Given the description of an element on the screen output the (x, y) to click on. 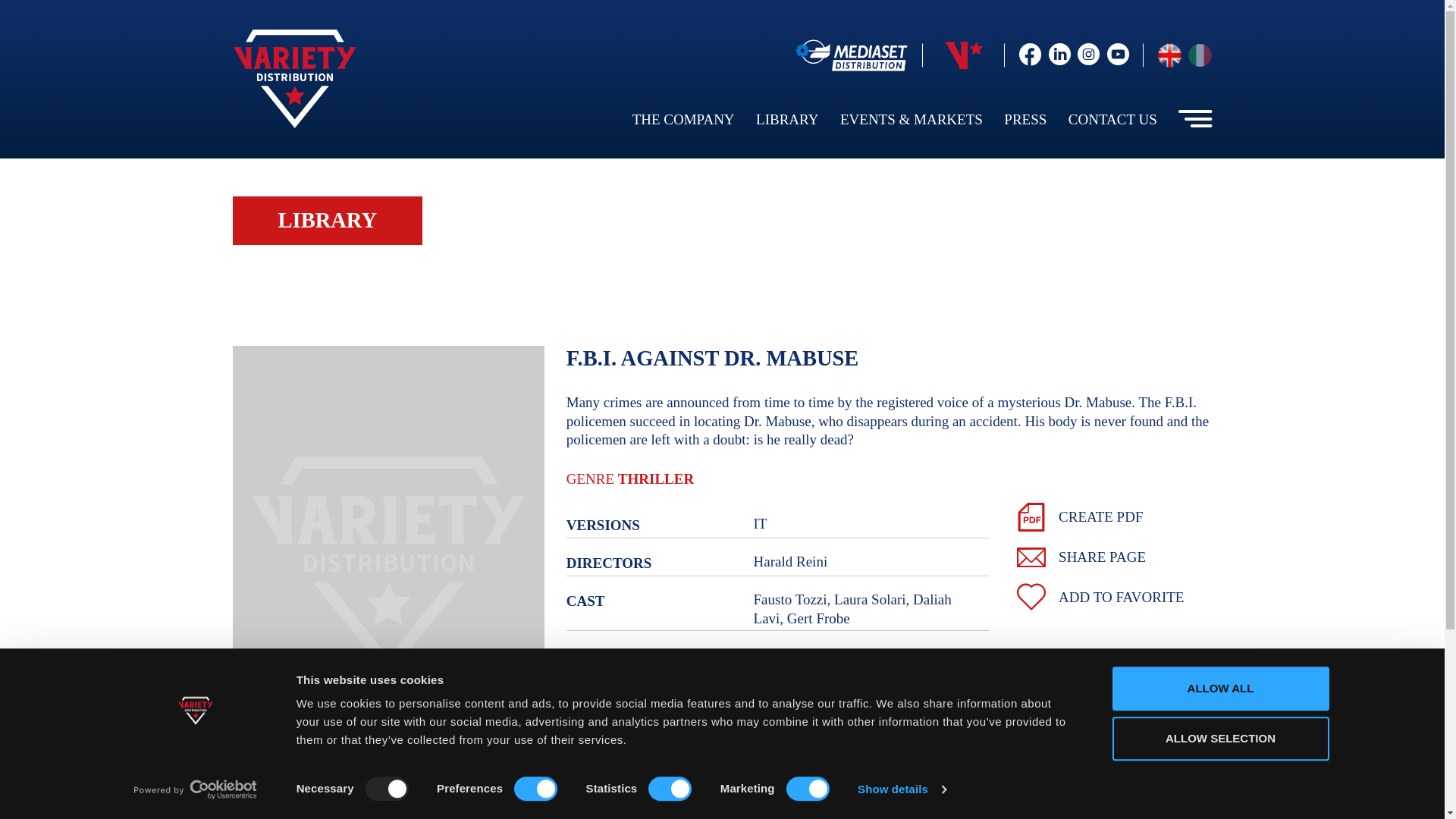
ALLOW ALL (1219, 688)
Show details (900, 789)
ALLOW SELECTION (1219, 738)
